Given the description of an element on the screen output the (x, y) to click on. 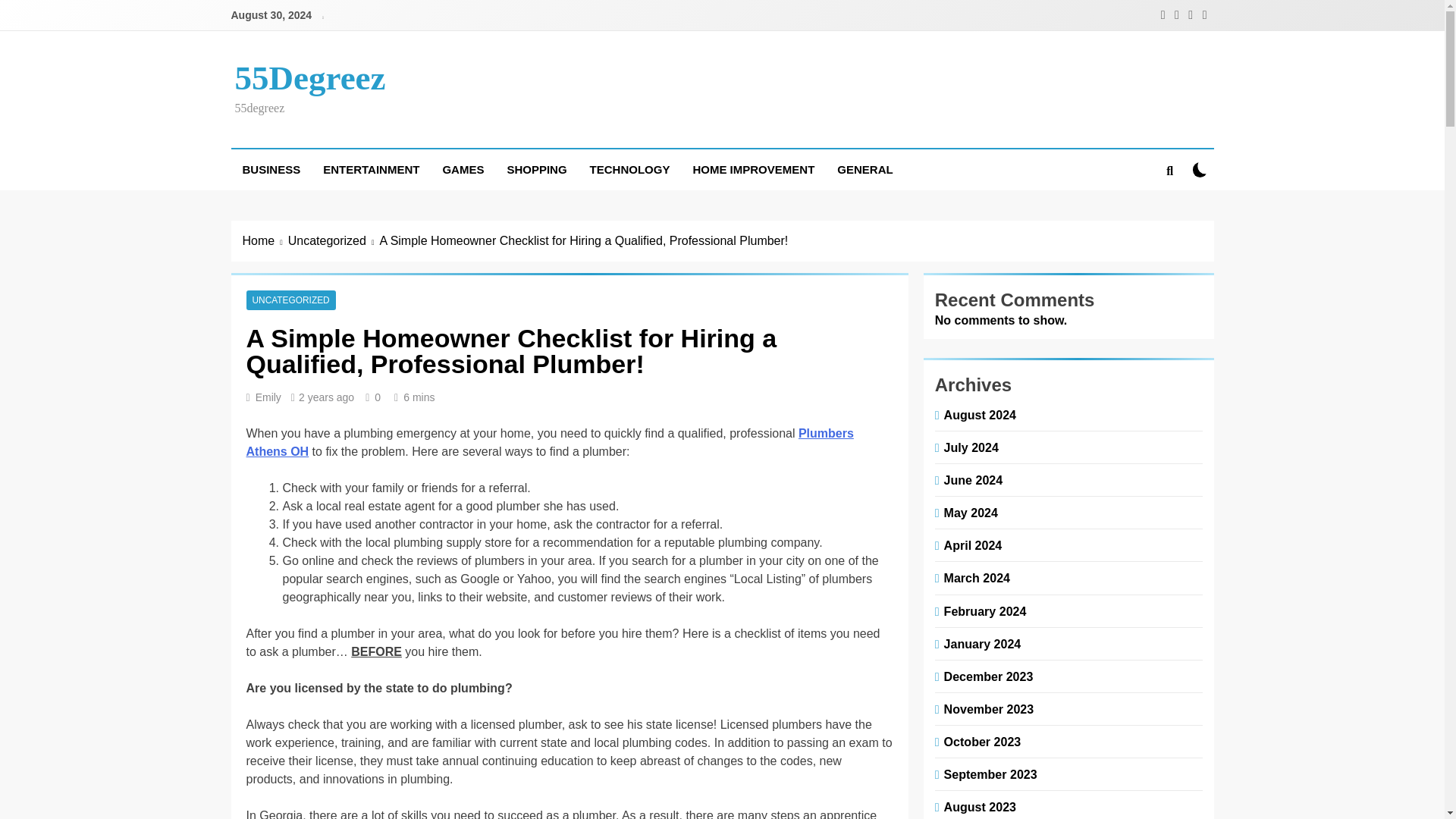
May 2024 (967, 512)
August 2024 (977, 414)
UNCATEGORIZED (290, 299)
GENERAL (864, 169)
GAMES (462, 169)
Home (265, 240)
ENTERTAINMENT (370, 169)
June 2024 (970, 479)
on (1199, 169)
55Degreez (309, 77)
